Given the description of an element on the screen output the (x, y) to click on. 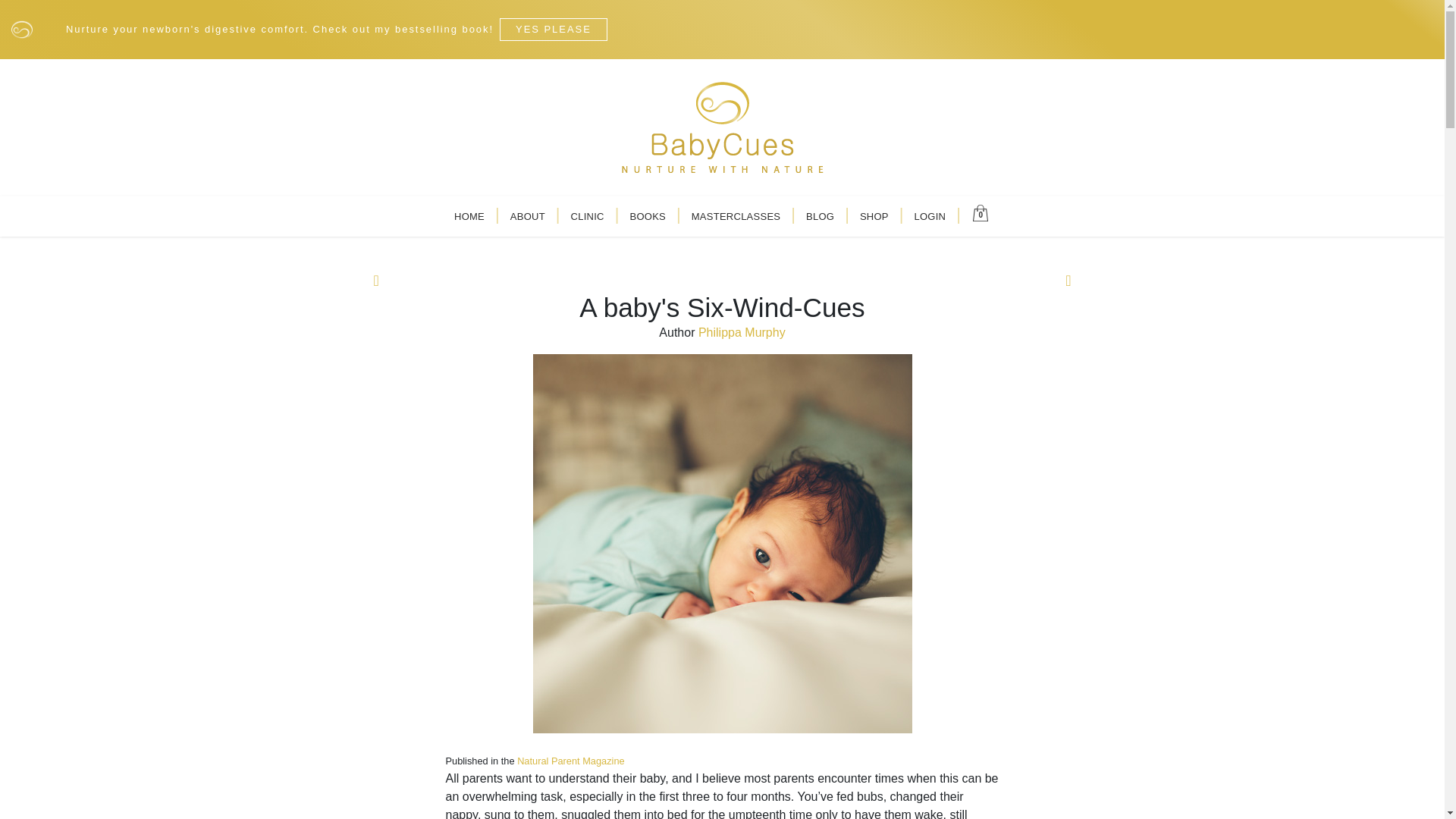
Homepage of BabyCues (721, 124)
View the About page (527, 215)
Philippa Murphy (742, 332)
MASTERCLASSES (736, 215)
HOME (469, 215)
Natural Parent Magazine (570, 760)
View the Books page (647, 215)
View the Home page (469, 215)
LOGIN (930, 215)
BLOG (819, 215)
ABOUT (527, 215)
BOOKS (647, 215)
YES PLEASE (553, 29)
0 (981, 210)
SHOP (874, 215)
